Given the description of an element on the screen output the (x, y) to click on. 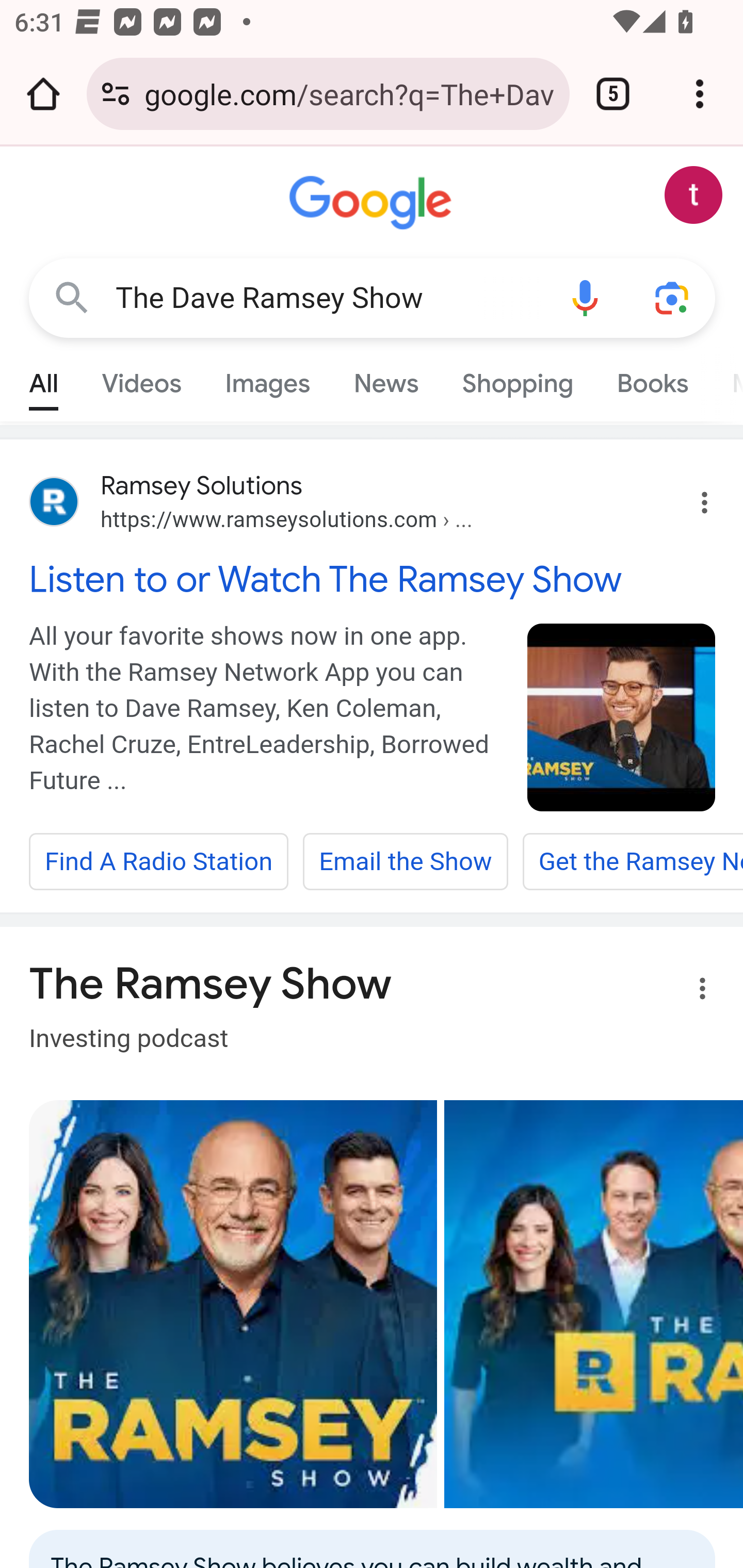
Open the home page (43, 93)
Connection is secure (115, 93)
Switch or close tabs (612, 93)
Customize and control Google Chrome (699, 93)
Google (372, 203)
Google Search (71, 296)
Search using your camera or photos (672, 296)
The Dave Ramsey Show (328, 297)
Videos (141, 378)
Images (267, 378)
News (385, 378)
Shopping (516, 378)
Books (652, 378)
Listen to or Watch The Ramsey Show (372, 579)
the-ramsey-show (621, 717)
Find A Radio Station (158, 862)
Email the Show (404, 862)
Get the Ramsey Network App (632, 862)
More options (690, 991)
